Given the description of an element on the screen output the (x, y) to click on. 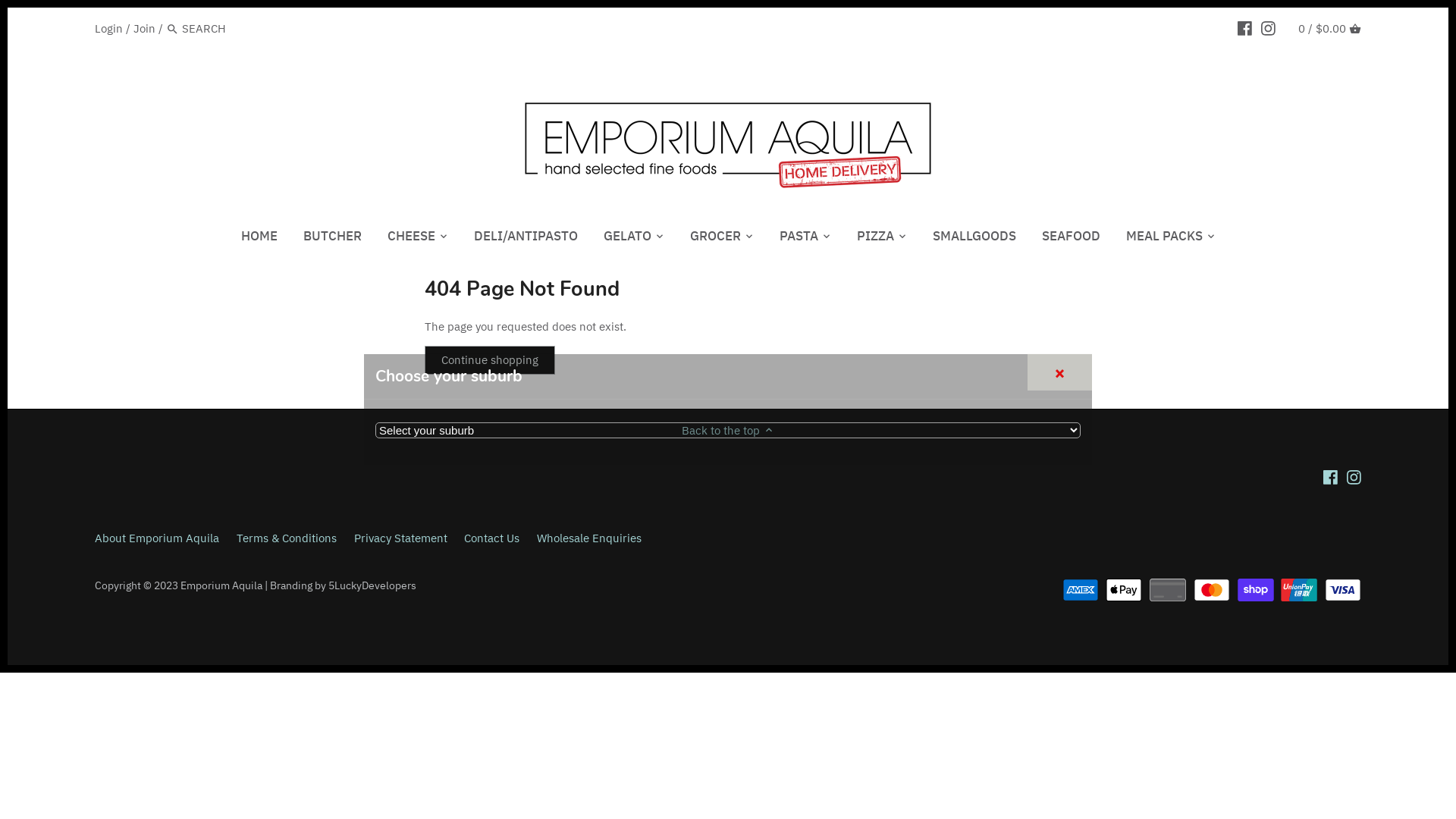
Join Element type: text (144, 28)
Continue shopping Element type: text (489, 359)
PIZZA Element type: text (874, 238)
Facebook Element type: text (1329, 475)
Back to the top Element type: text (727, 429)
Contact Us Element type: text (491, 538)
Search Element type: text (172, 29)
DELI/ANTIPASTO Element type: text (525, 238)
Login Element type: text (108, 28)
SEAFOOD Element type: text (1070, 238)
GELATO Element type: text (626, 238)
0 / $0.00 Cart Element type: text (1329, 28)
HOME Element type: text (258, 238)
PASTA Element type: text (797, 238)
Branding by 5LuckyDevelopers Element type: text (342, 585)
Emporium Aquila Element type: text (221, 585)
Privacy Statement Element type: text (399, 538)
About Emporium Aquila Element type: text (156, 538)
Instagram Element type: text (1268, 27)
MEAL PACKS Element type: text (1164, 238)
Instagram Element type: text (1353, 475)
Wholesale Enquiries Element type: text (588, 538)
Terms & Conditions Element type: text (286, 538)
CHEESE Element type: text (411, 238)
BUTCHER Element type: text (331, 238)
Facebook Element type: text (1244, 27)
GROCER Element type: text (714, 238)
SMALLGOODS Element type: text (973, 238)
